Given the description of an element on the screen output the (x, y) to click on. 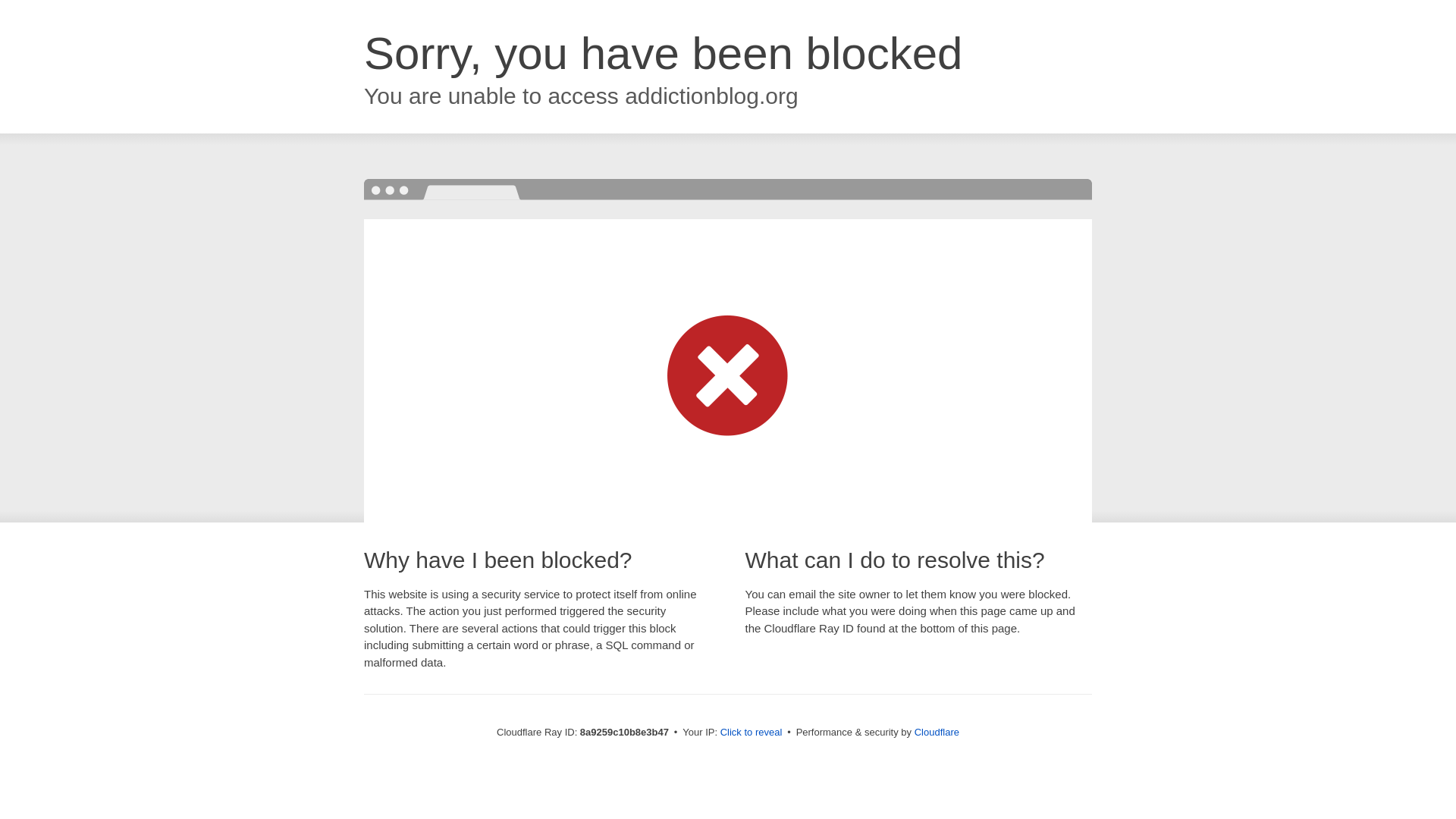
Cloudflare (936, 731)
Click to reveal (751, 732)
